Given the description of an element on the screen output the (x, y) to click on. 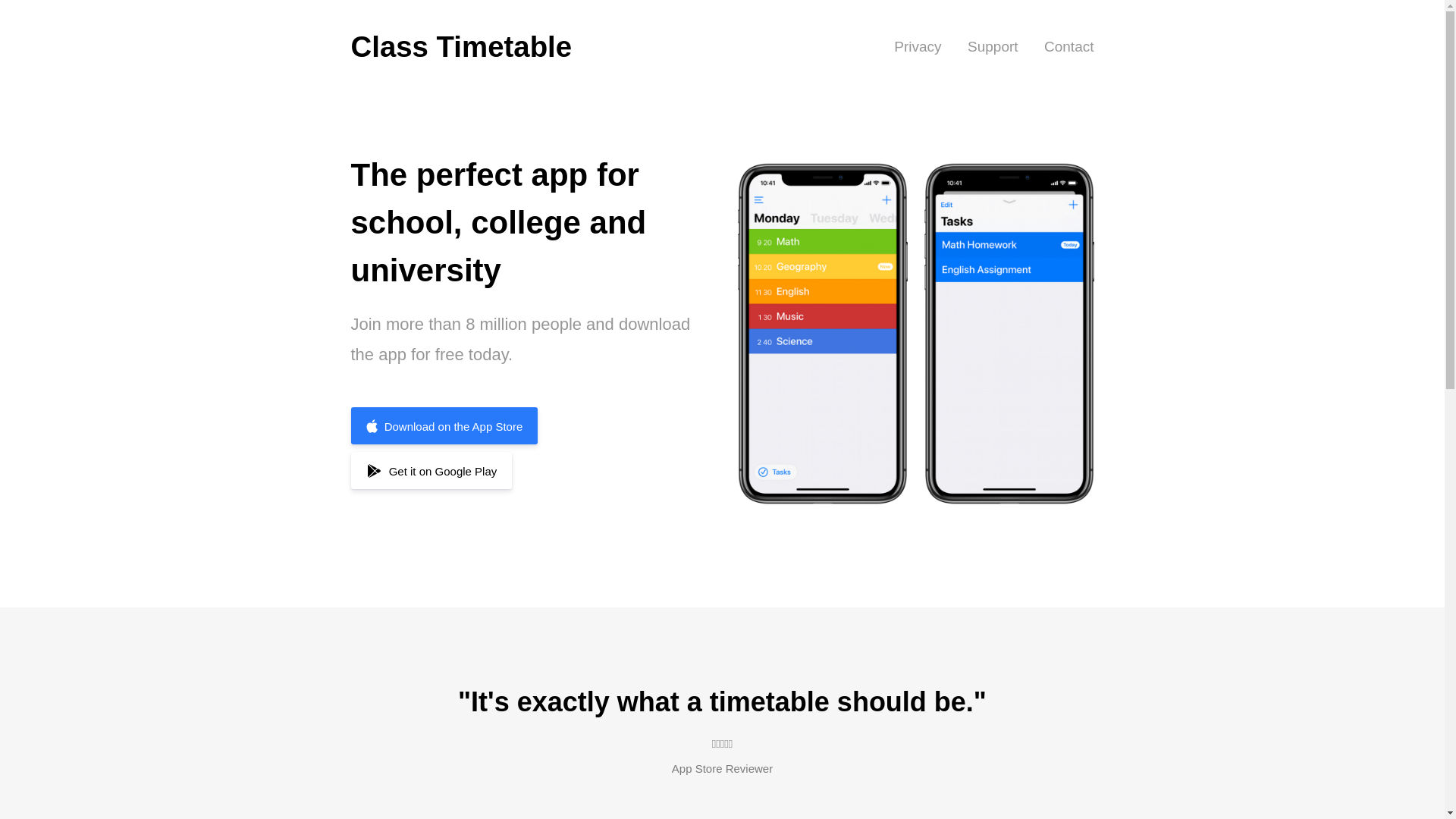
Contact (1068, 46)
Privacy (916, 46)
Download on the App Store (443, 425)
Get it on Google Play (431, 470)
Class Timetable (461, 46)
Support (992, 46)
